Given the description of an element on the screen output the (x, y) to click on. 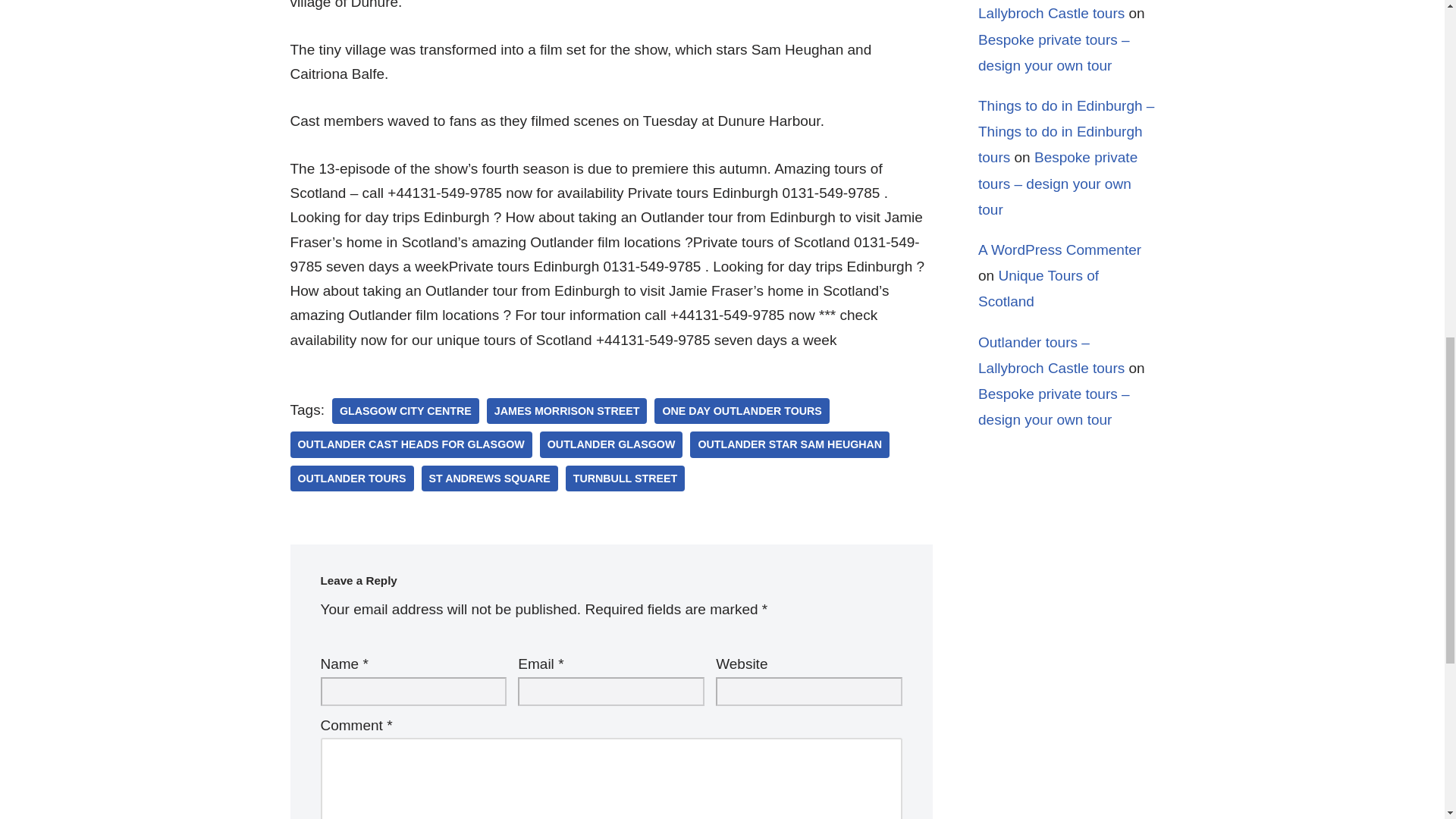
Turnbull Street (625, 478)
ST ANDREWS SQUARE (489, 478)
TURNBULL STREET (625, 478)
JAMES MORRISON STREET (566, 411)
Outlander tours (351, 478)
Unique Tours of Scotland (1038, 288)
Outlander cast heads for Glasgow (410, 444)
one day outlander tours (740, 411)
OUTLANDER STAR SAM HEUGHAN (789, 444)
OUTLANDER GLASGOW (611, 444)
